Given the description of an element on the screen output the (x, y) to click on. 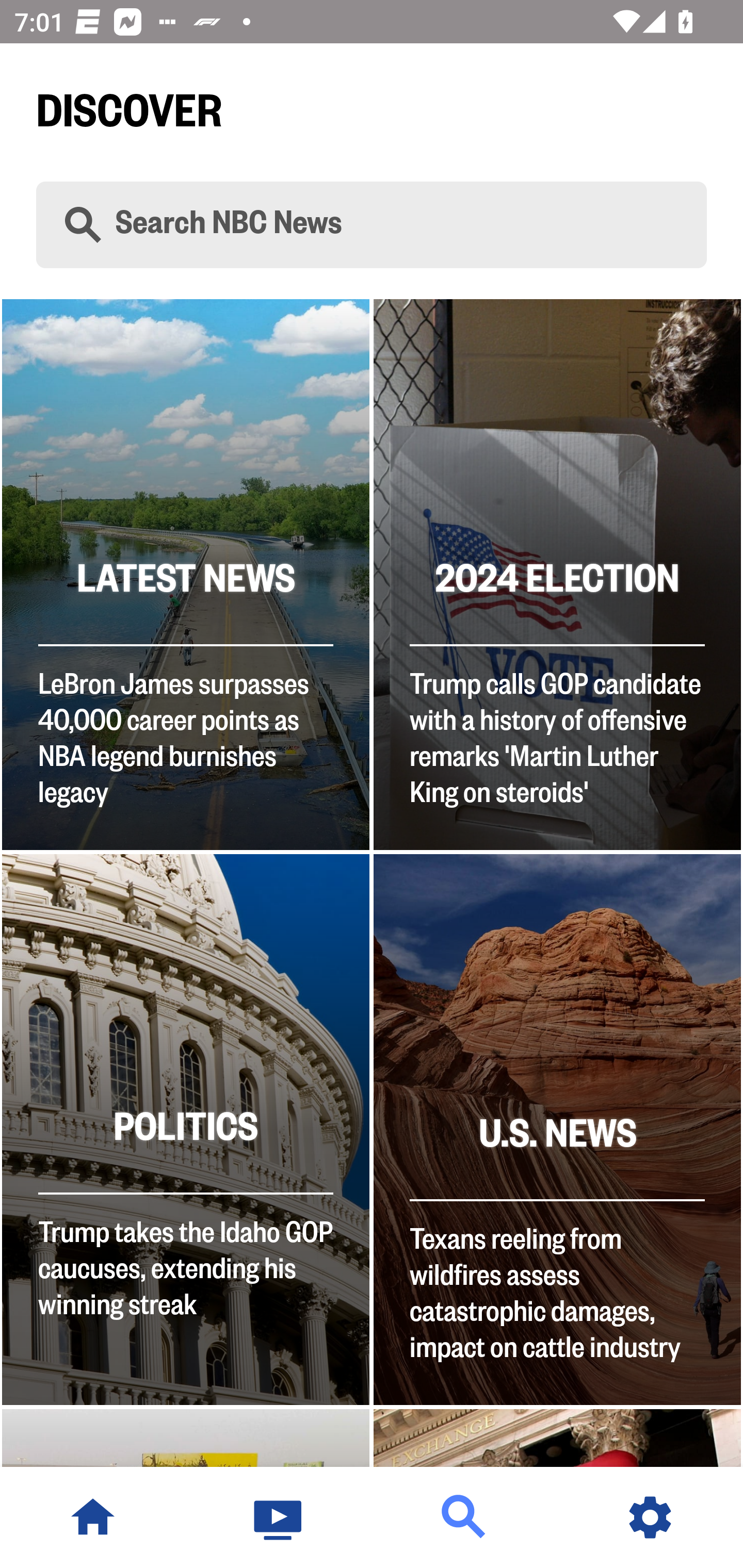
NBC News Home (92, 1517)
Watch (278, 1517)
Settings (650, 1517)
